Given the description of an element on the screen output the (x, y) to click on. 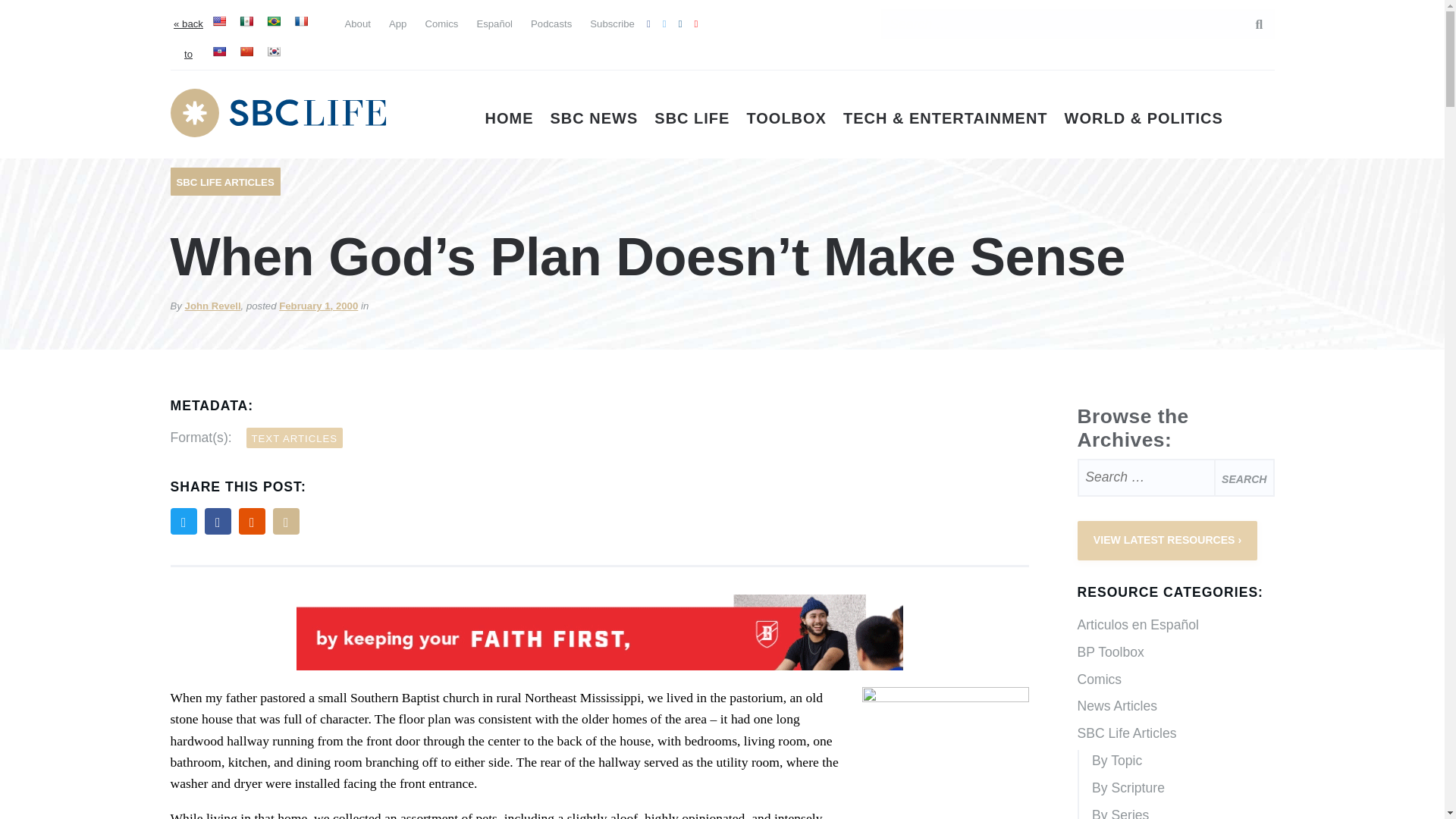
App (397, 23)
English (218, 21)
Search (1244, 477)
Spanish (246, 21)
About (356, 23)
John Revell (212, 306)
SBC LIFE ARTICLES (224, 182)
French (300, 21)
Search (1251, 24)
February 1, 2000 (318, 306)
Portuguese (273, 21)
SBC LIFE (691, 117)
SBC NEWS (594, 117)
Comics (441, 23)
TEXT ARTICLES (294, 437)
